Given the description of an element on the screen output the (x, y) to click on. 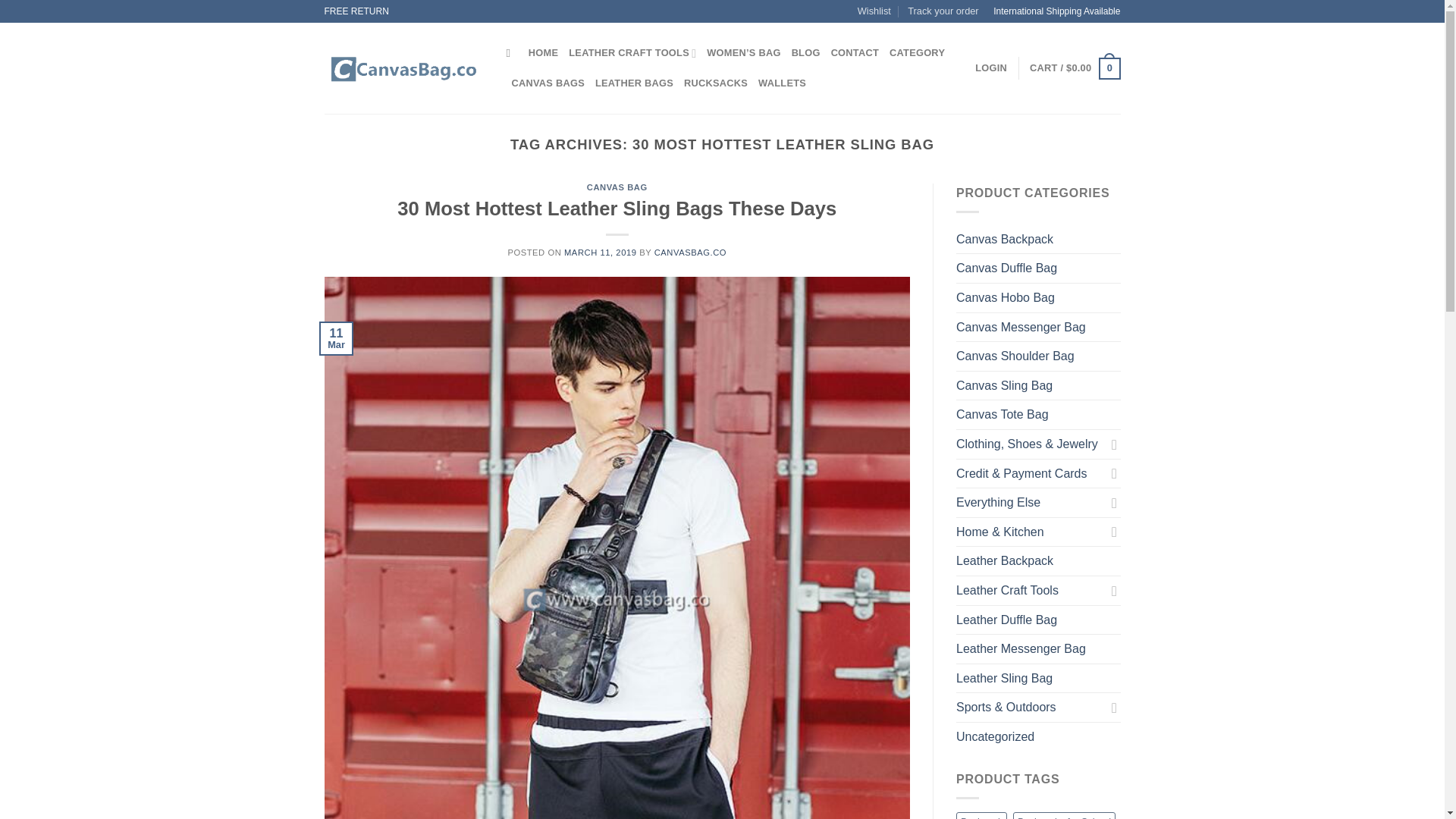
LOGIN (991, 68)
Canvas Shoulder Bag (1038, 356)
Cart (1074, 68)
RUCKSACKS (716, 82)
BLOG (806, 52)
WALLETS (782, 82)
CATEGORY (916, 52)
Canvas Backpack (1038, 239)
MARCH 11, 2019 (600, 252)
Canvas Hobo Bag (1038, 297)
